Given the description of an element on the screen output the (x, y) to click on. 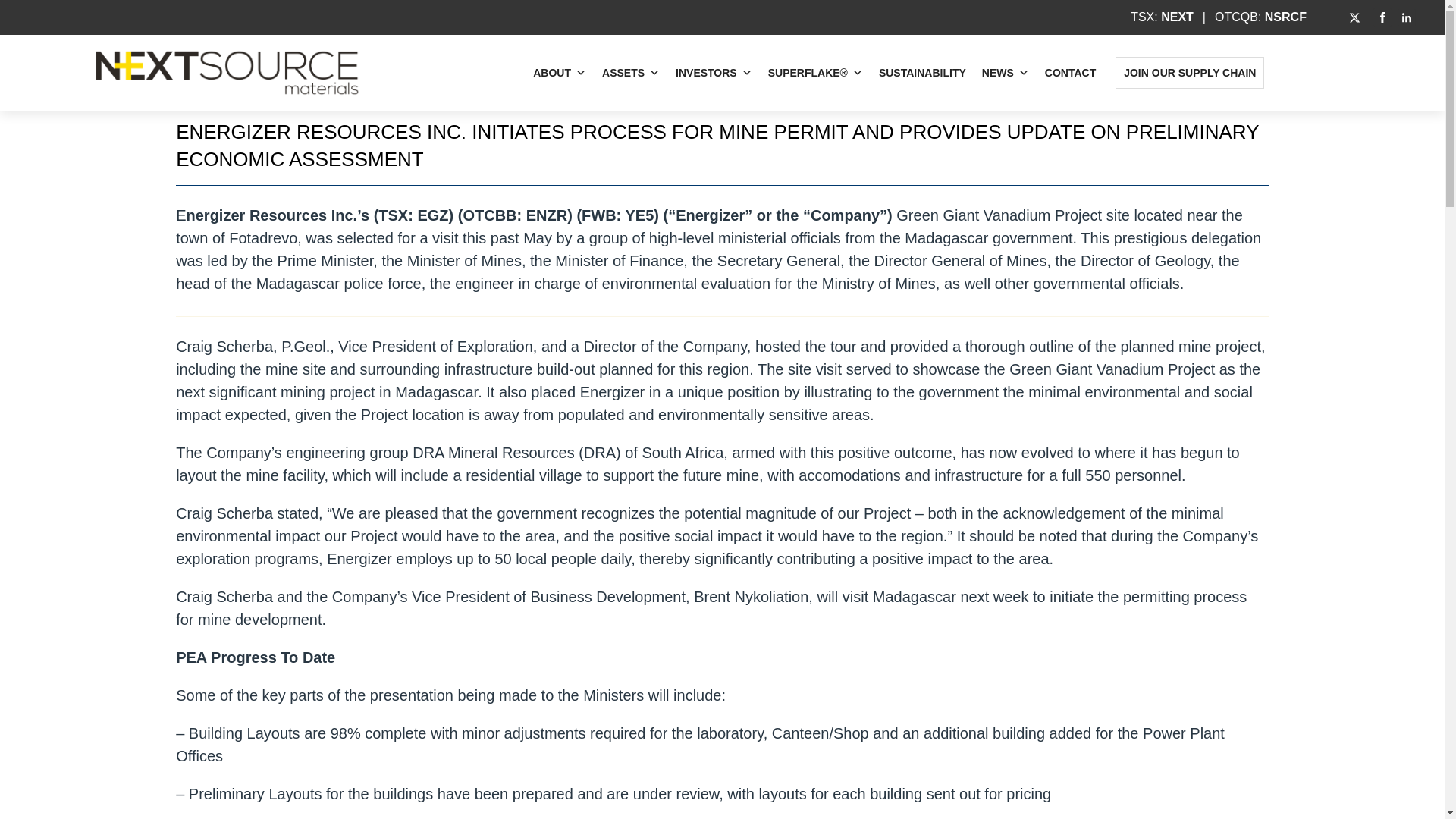
INVESTORS (714, 72)
ASSETS (630, 72)
SUSTAINABILITY (922, 72)
NEWS (1005, 72)
JOIN OUR SUPPLY CHAIN (1189, 72)
CONTACT (1069, 72)
Back (722, 61)
ABOUT (559, 72)
